Given the description of an element on the screen output the (x, y) to click on. 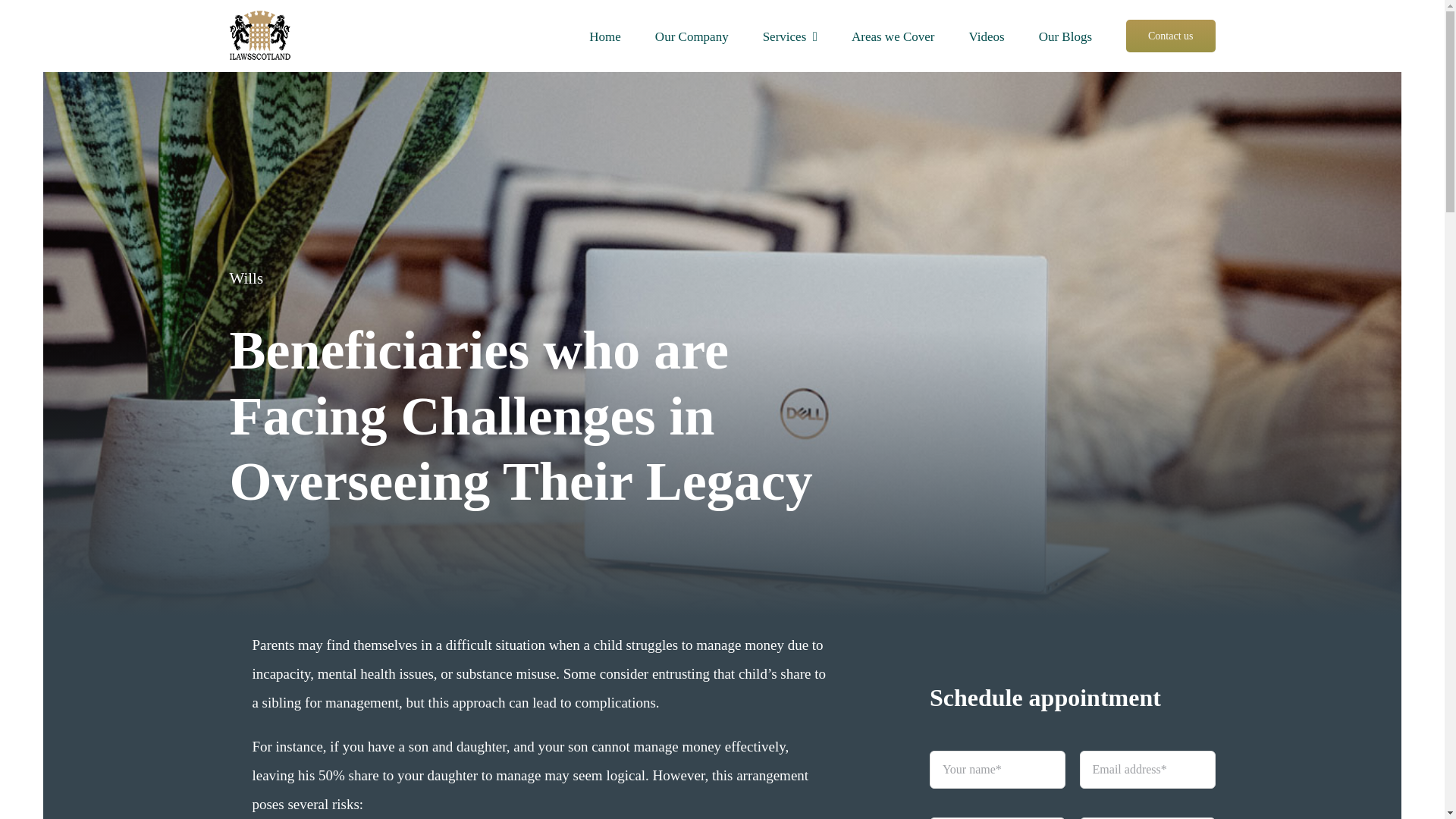
Areas we Cover (892, 36)
Contact us (1170, 36)
Wills (245, 278)
Our Company (692, 36)
Wills (245, 278)
Submit (1072, 777)
